Given the description of an element on the screen output the (x, y) to click on. 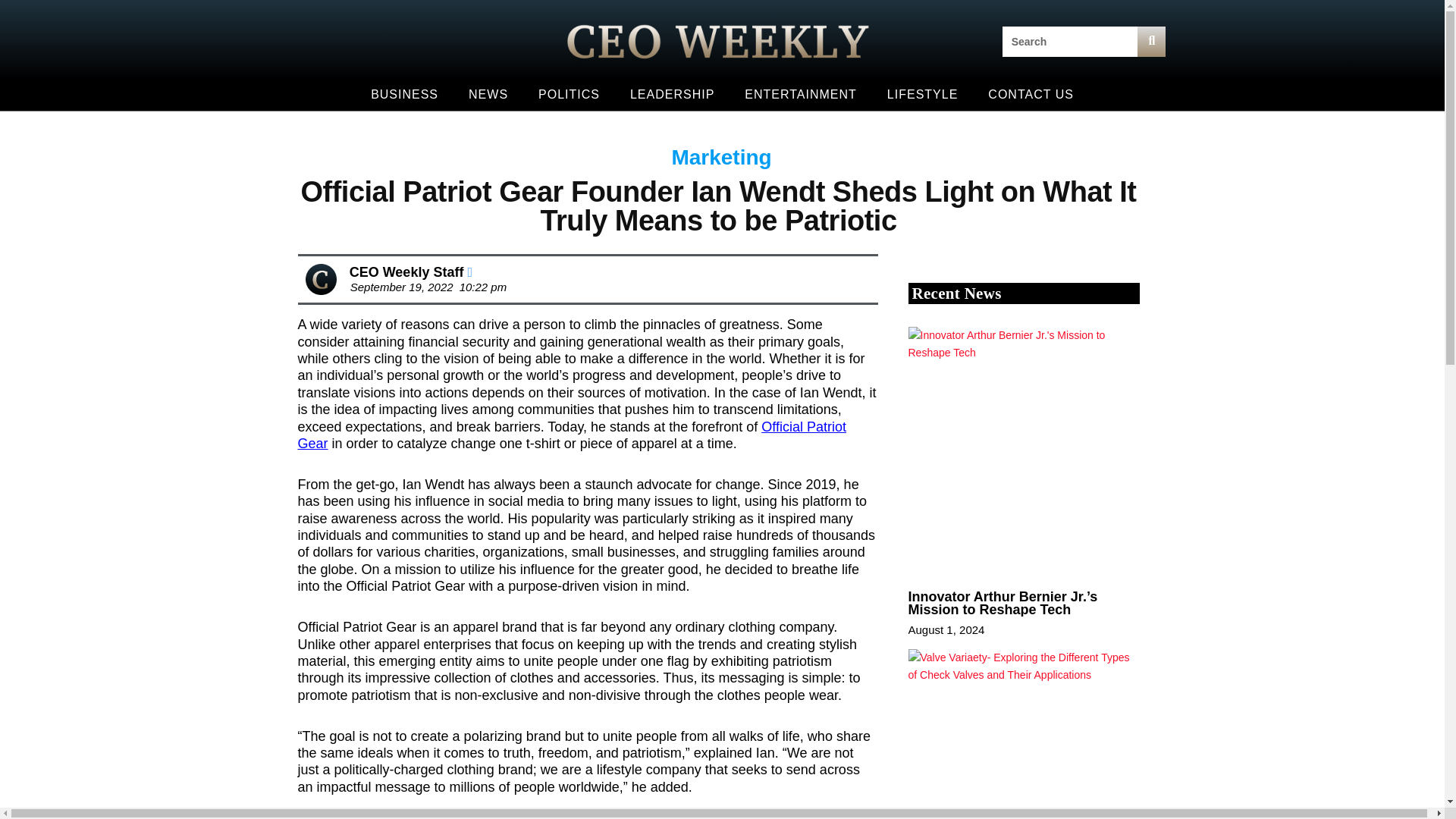
Marketing (721, 156)
LIFESTYLE (921, 94)
BUSINESS (403, 94)
Search (1070, 41)
POLITICS (568, 94)
CEO Weekly Staff (410, 272)
NEWS (488, 94)
CONTACT US (1030, 94)
LEADERSHIP (672, 94)
Official Patriot Gear (571, 435)
September 19, 2022 (397, 287)
ENTERTAINMENT (800, 94)
